Given the description of an element on the screen output the (x, y) to click on. 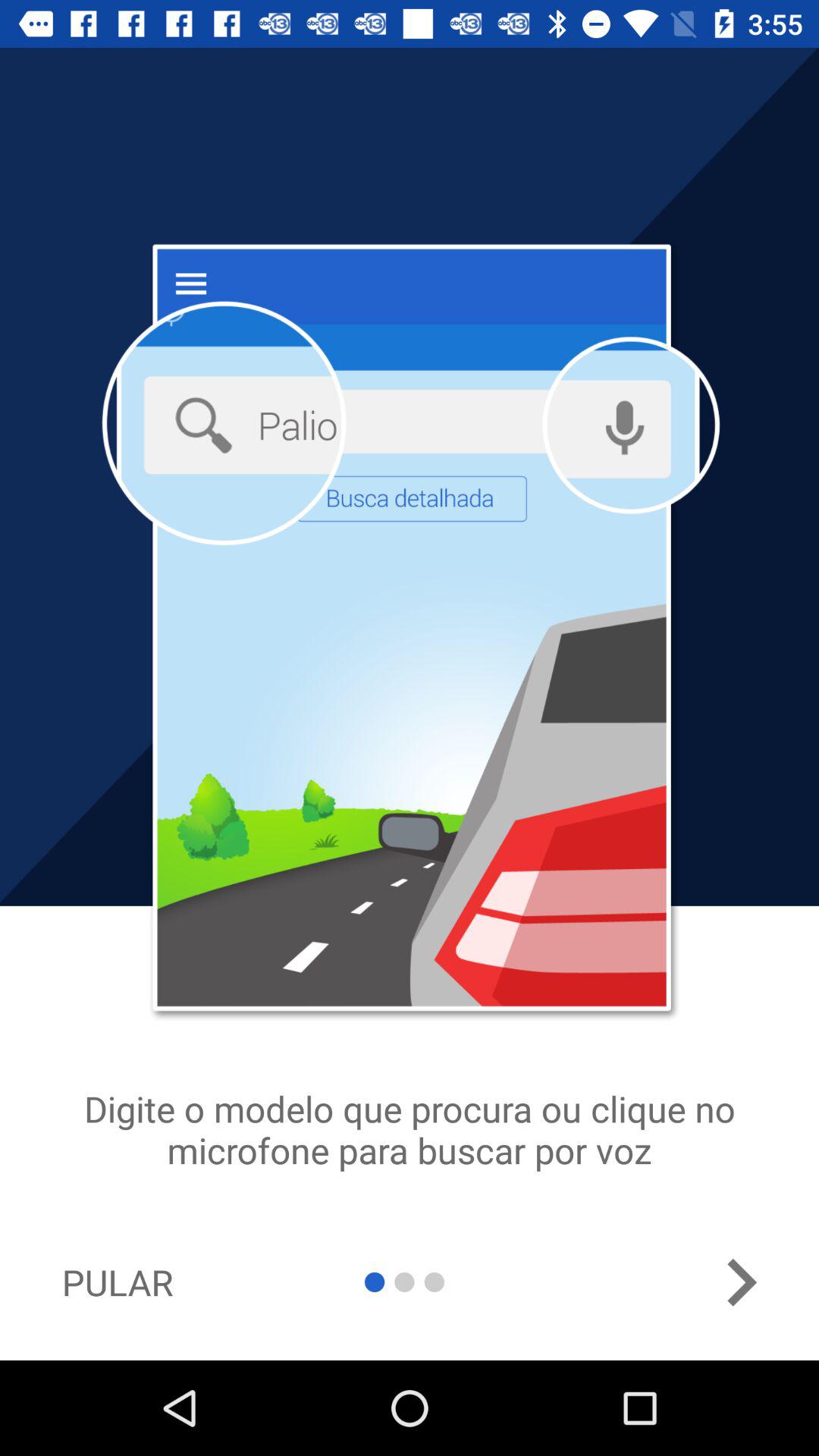
swipe to pular item (117, 1282)
